Given the description of an element on the screen output the (x, y) to click on. 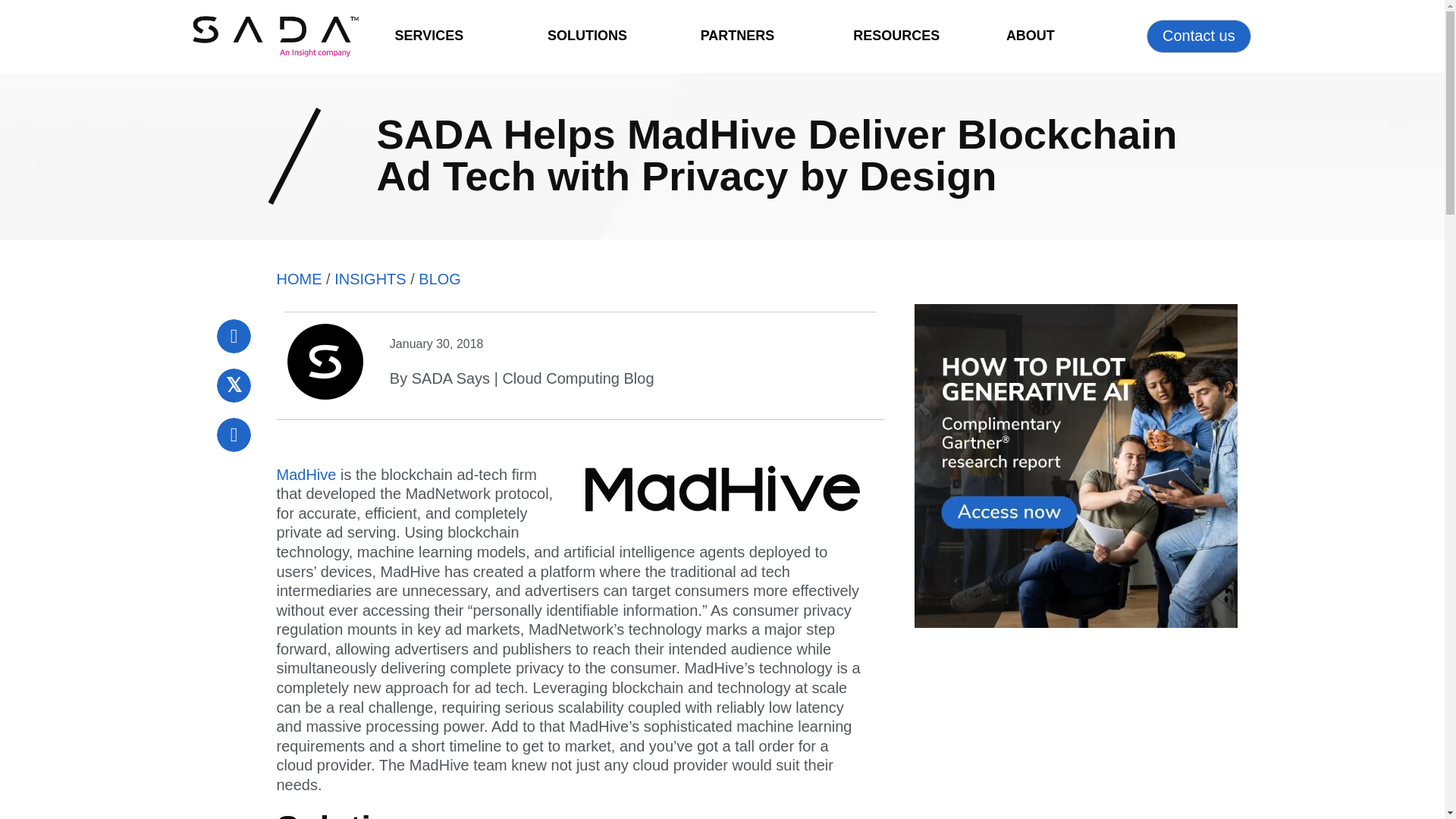
SERVICES (428, 35)
